Given the description of an element on the screen output the (x, y) to click on. 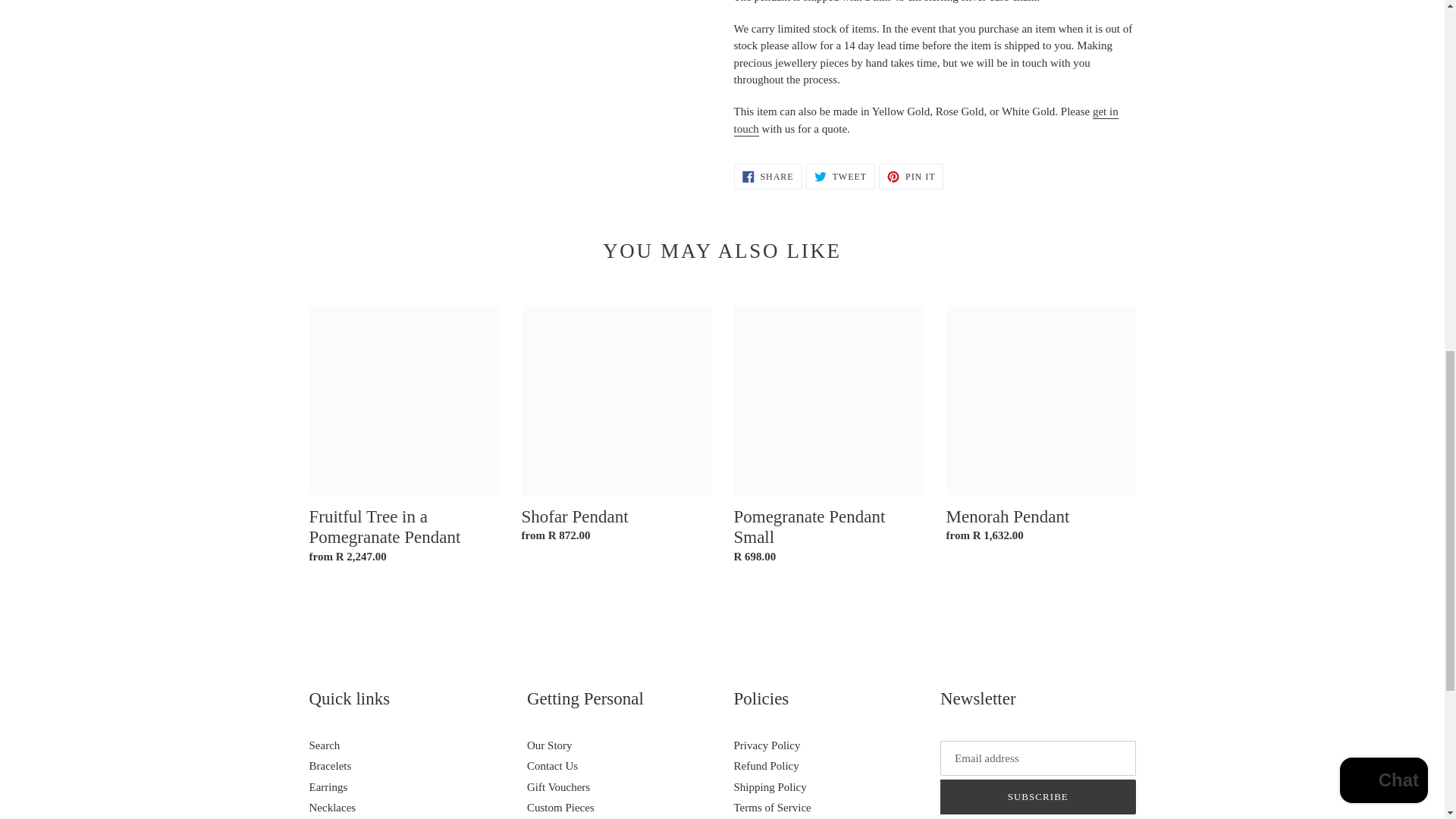
Contact Us (925, 120)
get in touch (925, 120)
